Given the description of an element on the screen output the (x, y) to click on. 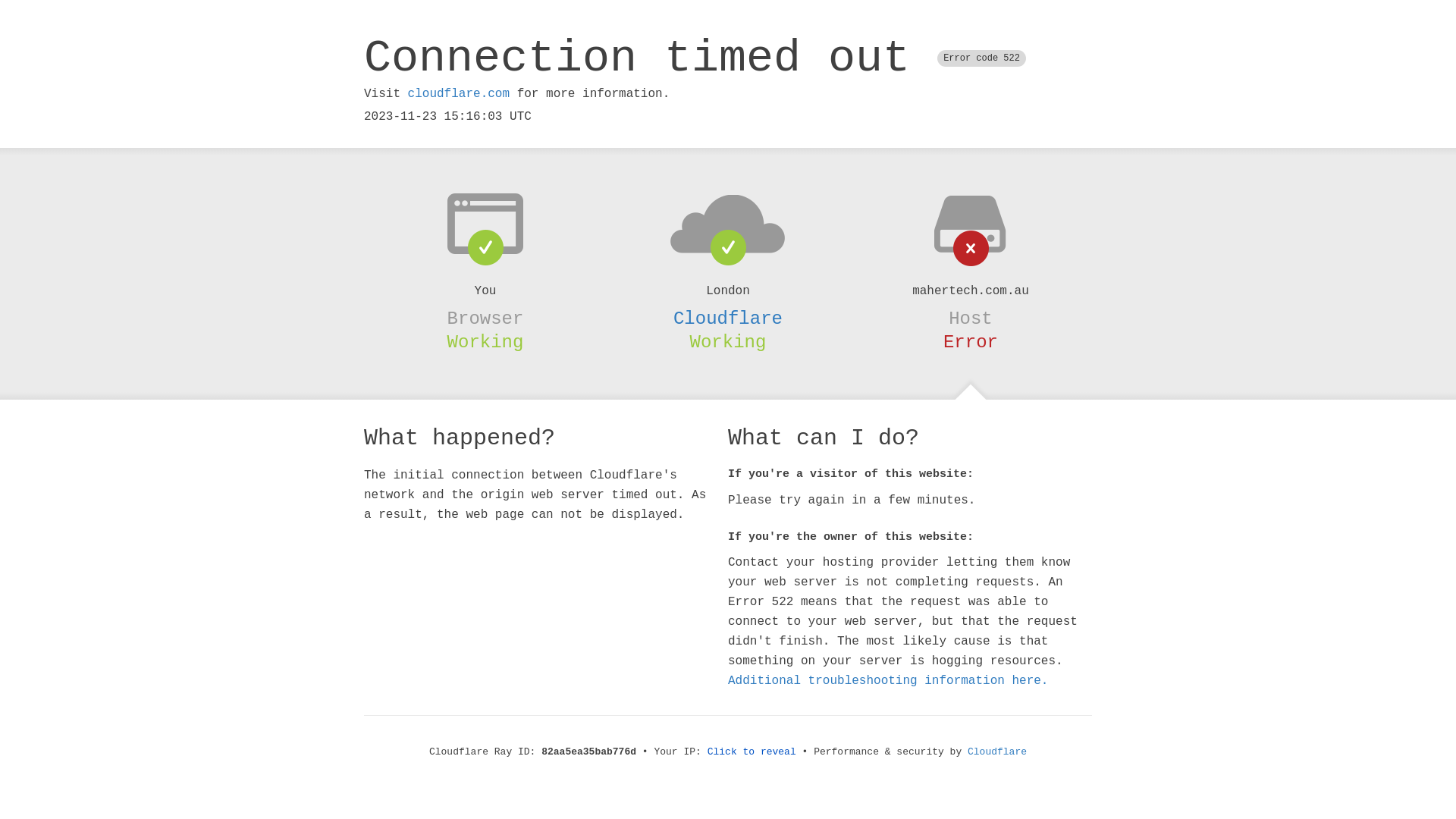
Click to reveal Element type: text (751, 751)
Cloudflare Element type: text (727, 318)
Additional troubleshooting information here. Element type: text (888, 680)
Cloudflare Element type: text (996, 751)
cloudflare.com Element type: text (458, 93)
